Given the description of an element on the screen output the (x, y) to click on. 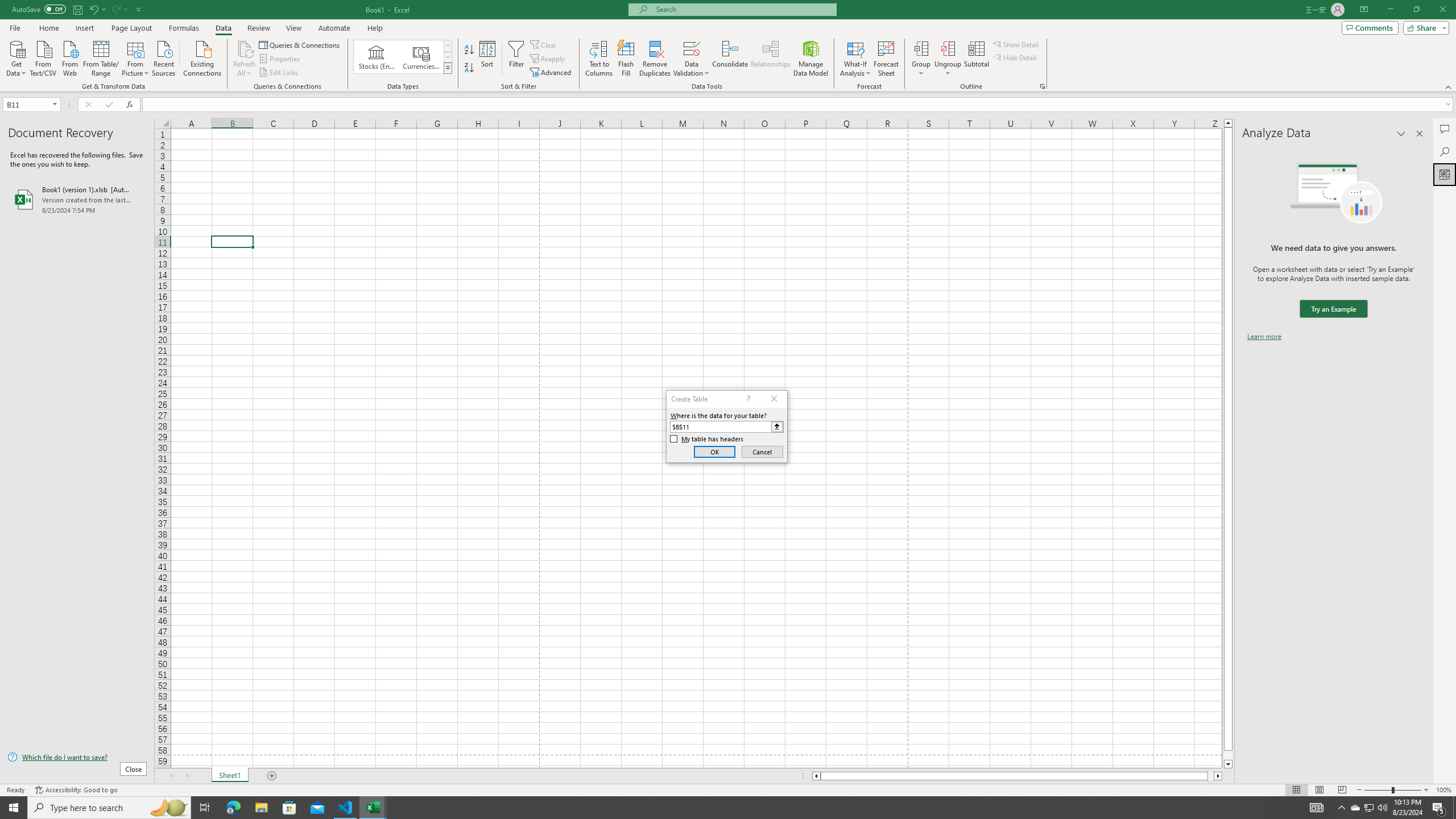
Analyze Data (1444, 173)
Name Box (27, 104)
Relationships (770, 58)
Ungroup... (947, 58)
File Tab (15, 27)
Sheet1 (229, 775)
Row up (448, 45)
From Text/CSV (43, 57)
Existing Connections (202, 57)
Formulas (184, 28)
Accessibility Checker Accessibility: Good to go (76, 790)
Advanced... (551, 72)
Close (1442, 9)
Redo (115, 9)
From Web (69, 57)
